Given the description of an element on the screen output the (x, y) to click on. 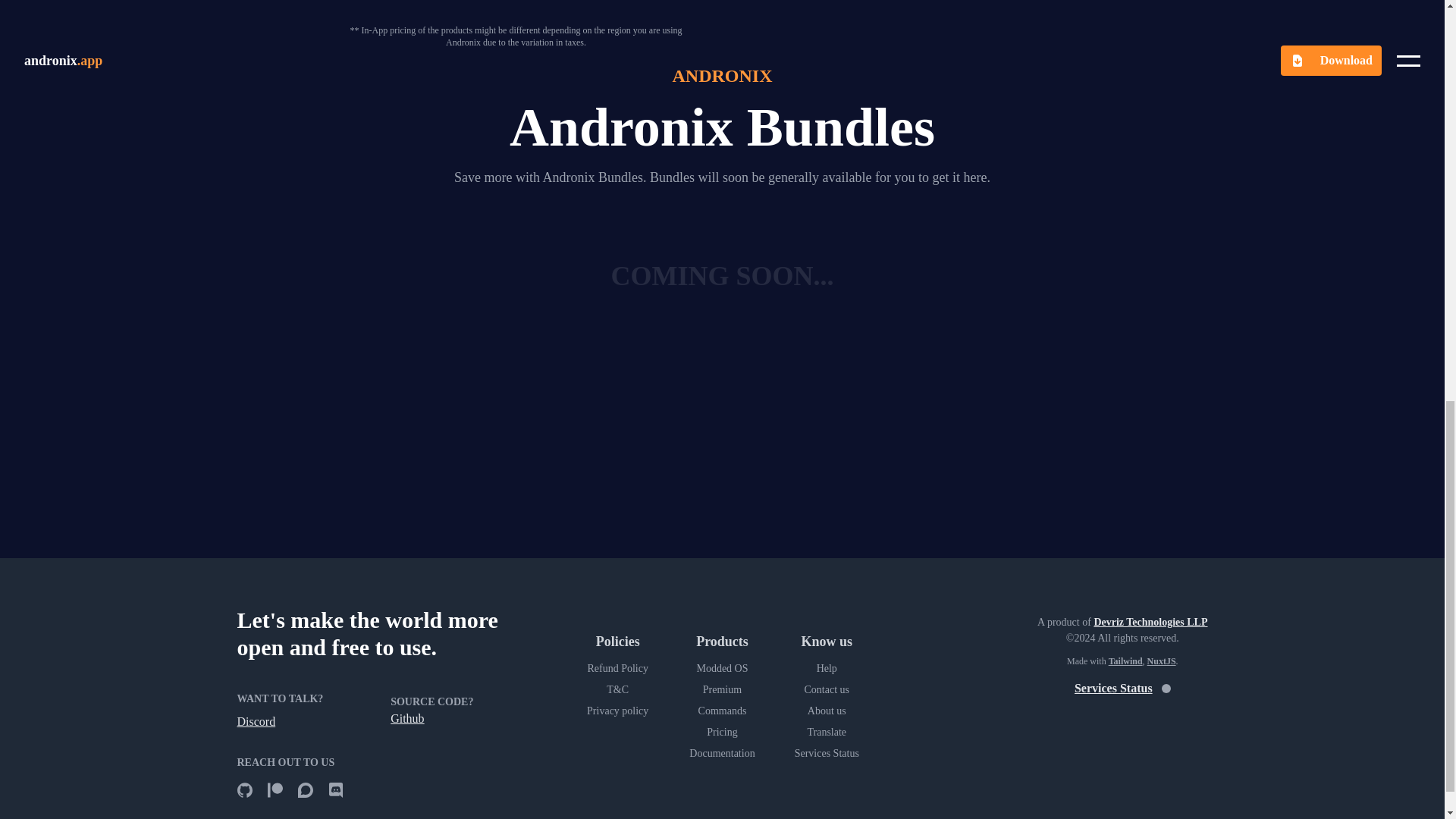
Translate (826, 732)
Refund Policy (617, 668)
Services Status (826, 753)
Pricing (721, 732)
NuxtJS (1161, 661)
Premium (721, 689)
Tailwind (1125, 661)
Github (406, 717)
Contact us (826, 689)
Help (826, 668)
